Given the description of an element on the screen output the (x, y) to click on. 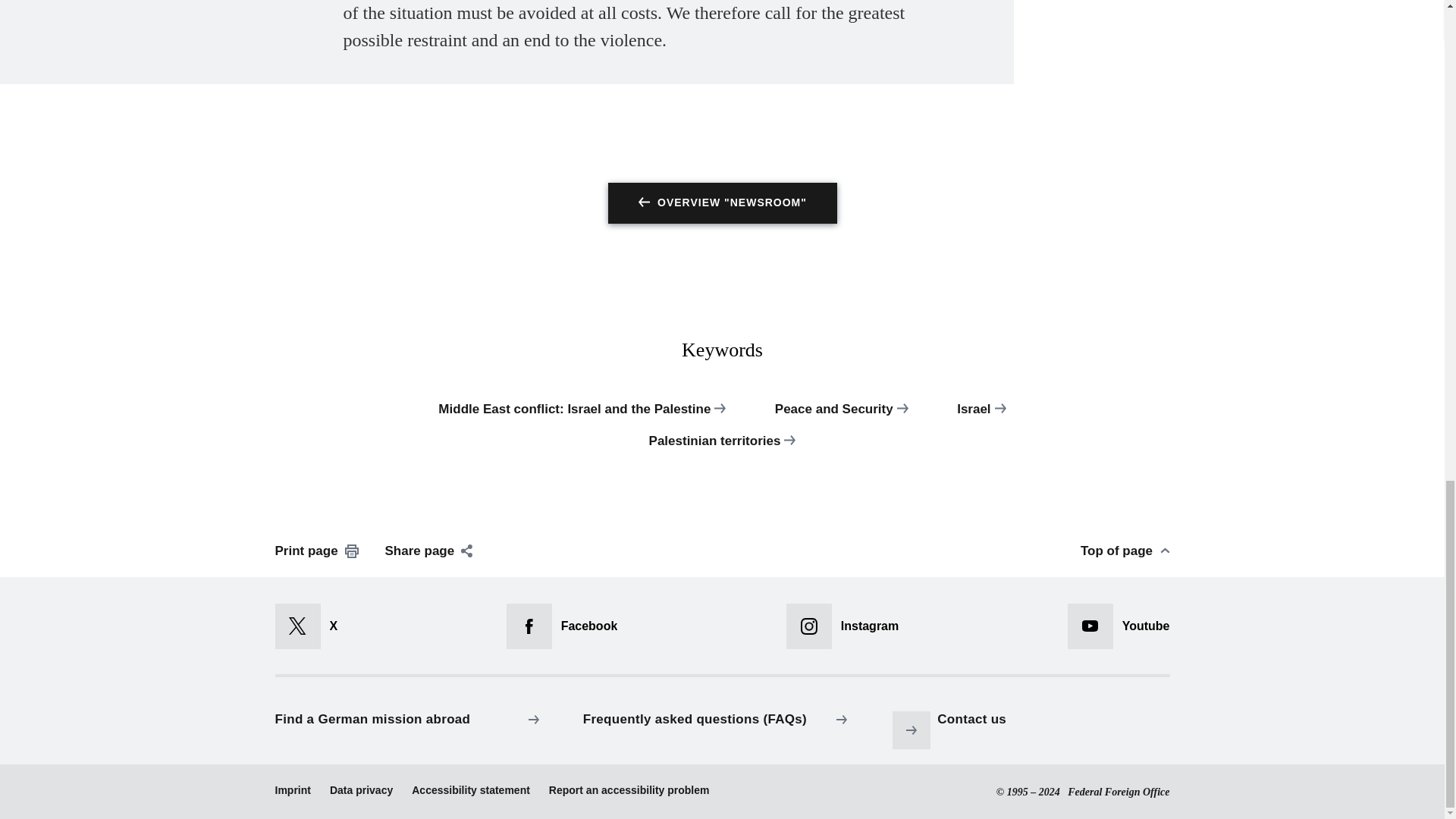
Middle East conflict: Israel and the Palestine (581, 417)
Palestinian territories (722, 449)
Israel (980, 417)
Peace and Security (841, 417)
Overview Newsroom (722, 202)
